Given the description of an element on the screen output the (x, y) to click on. 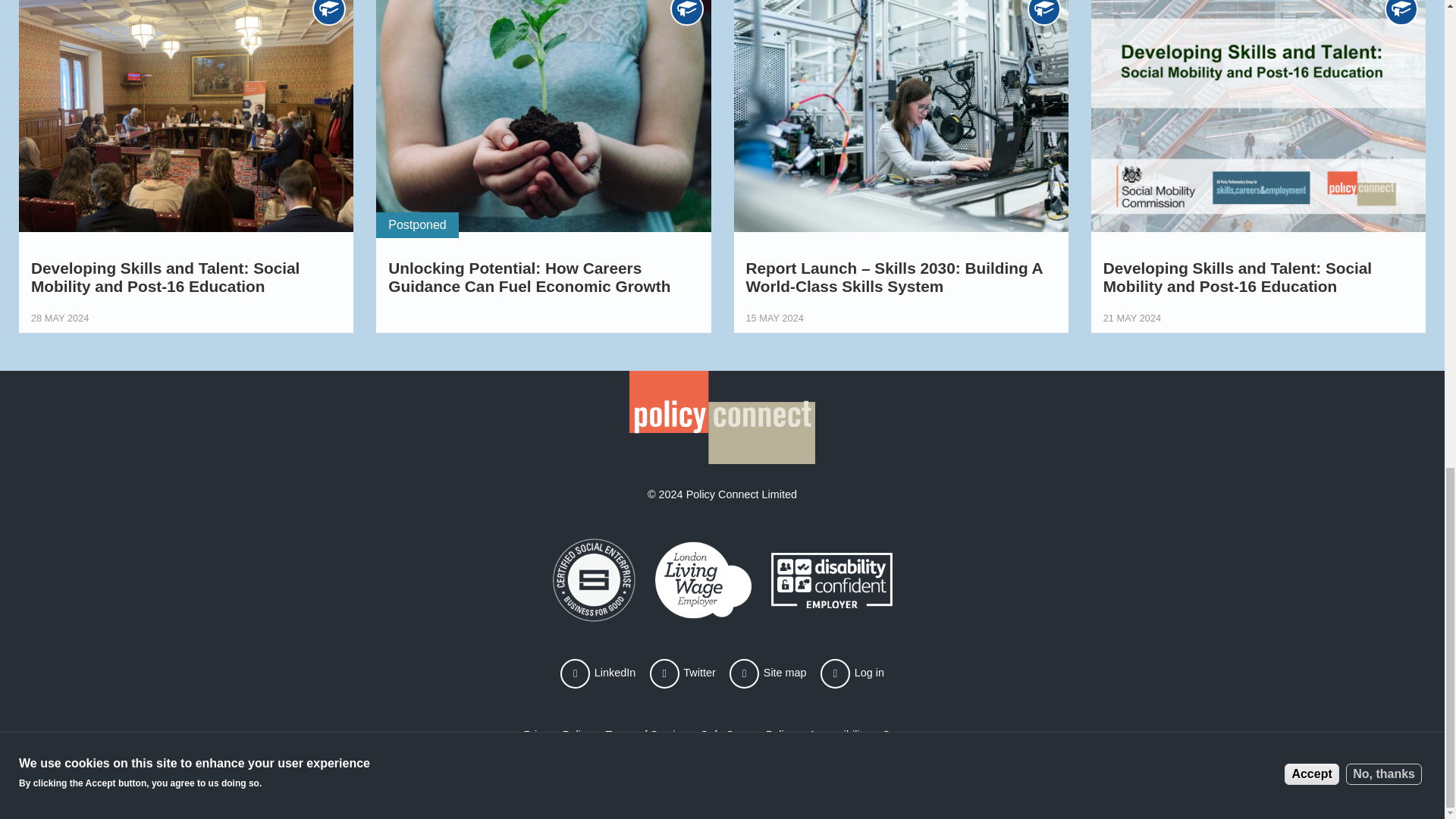
Twitter (682, 672)
Living wage employer (592, 579)
Disability confident (830, 579)
Living wage employer (702, 579)
LinkedIn (597, 672)
Site map (767, 672)
